Given the description of an element on the screen output the (x, y) to click on. 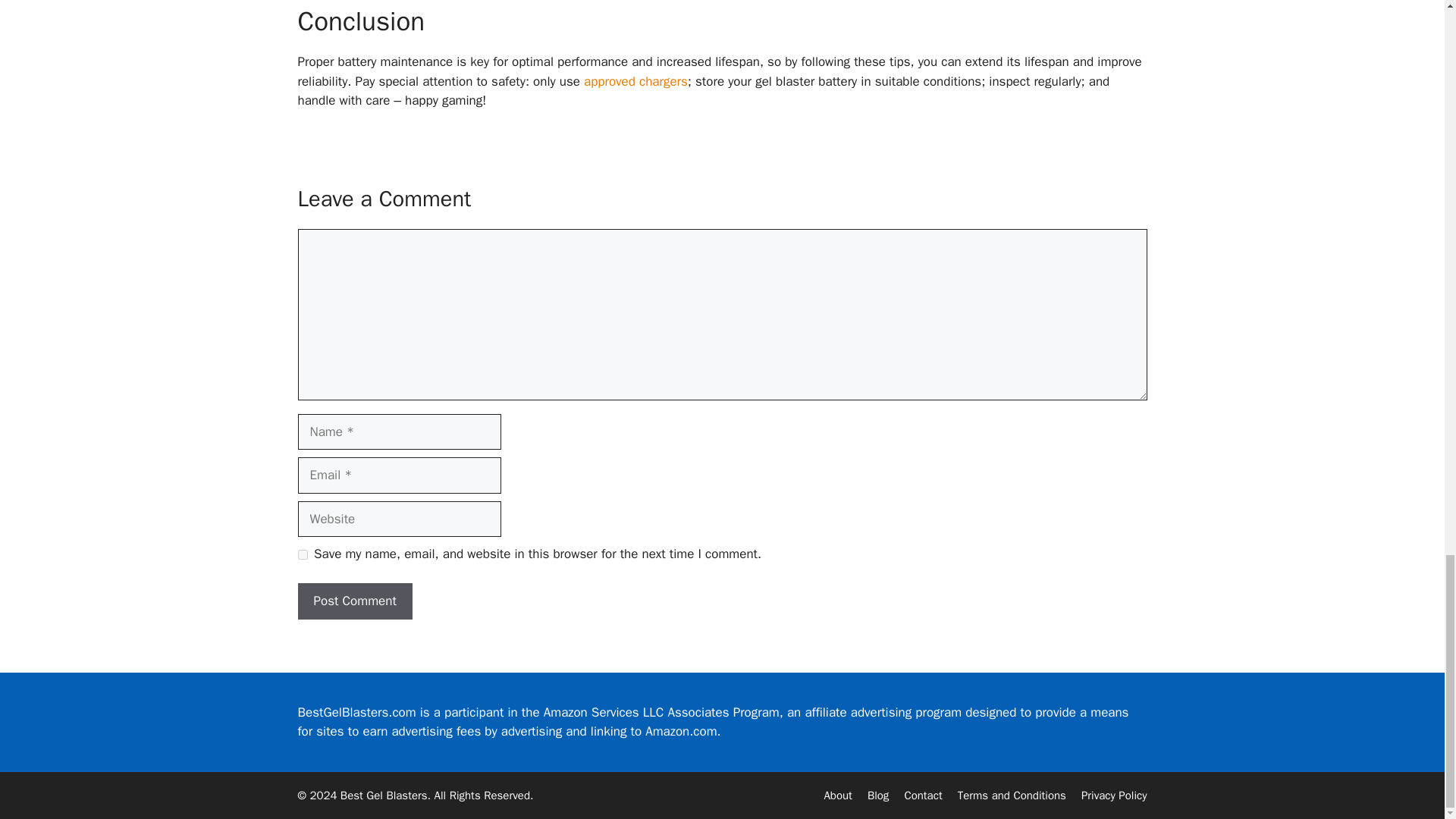
Privacy Policy (1114, 795)
About (837, 795)
Post Comment (354, 601)
yes (302, 554)
Post Comment (354, 601)
Contact (923, 795)
Terms and Conditions (1011, 795)
approved chargers (635, 81)
Blog (877, 795)
